Given the description of an element on the screen output the (x, y) to click on. 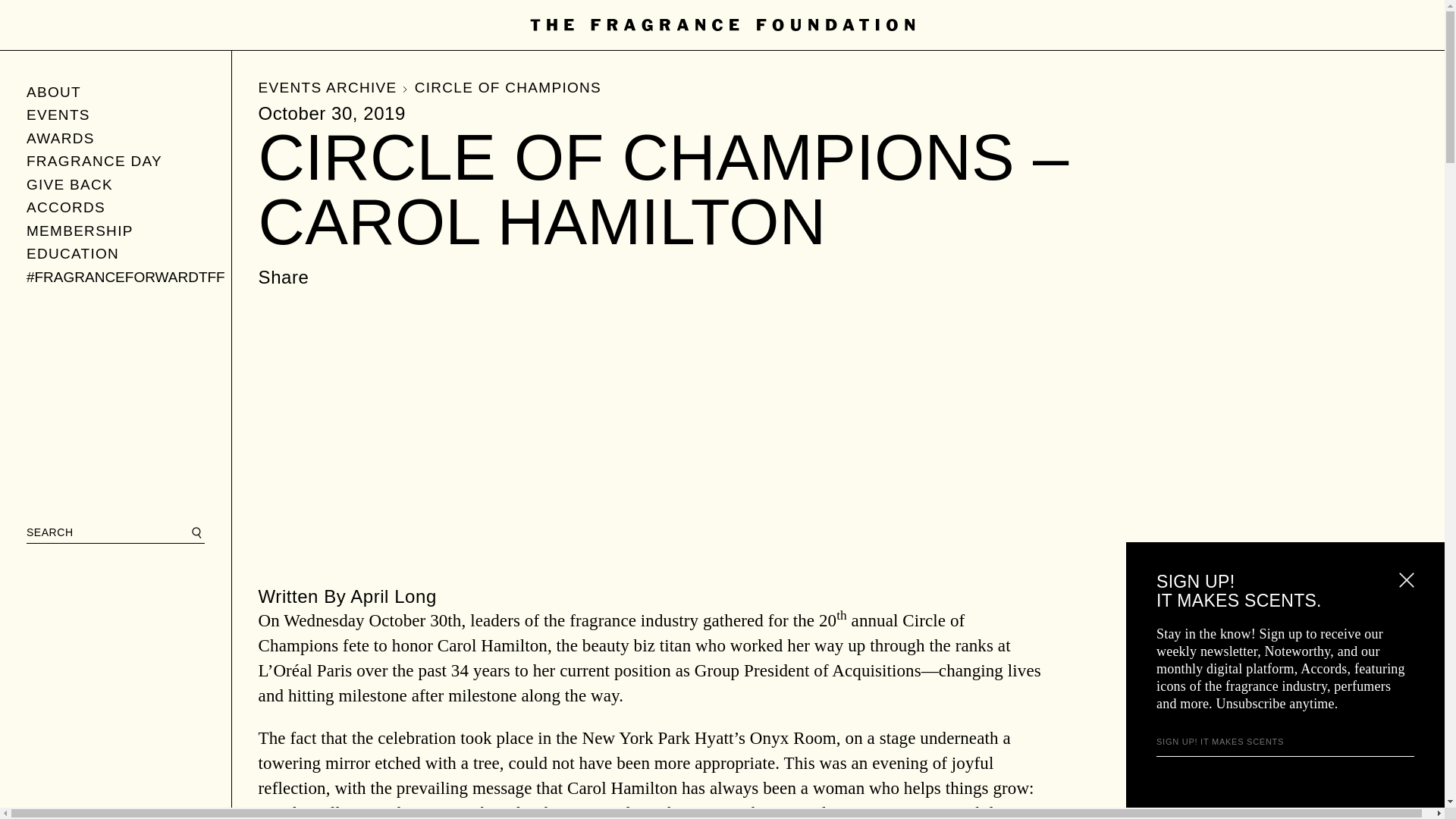
FRAGRANCE DAY (115, 161)
CIRCLE OF CHAMPIONS (507, 87)
Search for: (115, 532)
EVENTS ARCHIVE (334, 87)
ABOUT (115, 92)
GIVE BACK (115, 184)
EVENTS (115, 114)
MEMBERSHIP (115, 230)
EDUCATION (115, 254)
AWARDS (115, 137)
ACCORDS (115, 207)
